Given the description of an element on the screen output the (x, y) to click on. 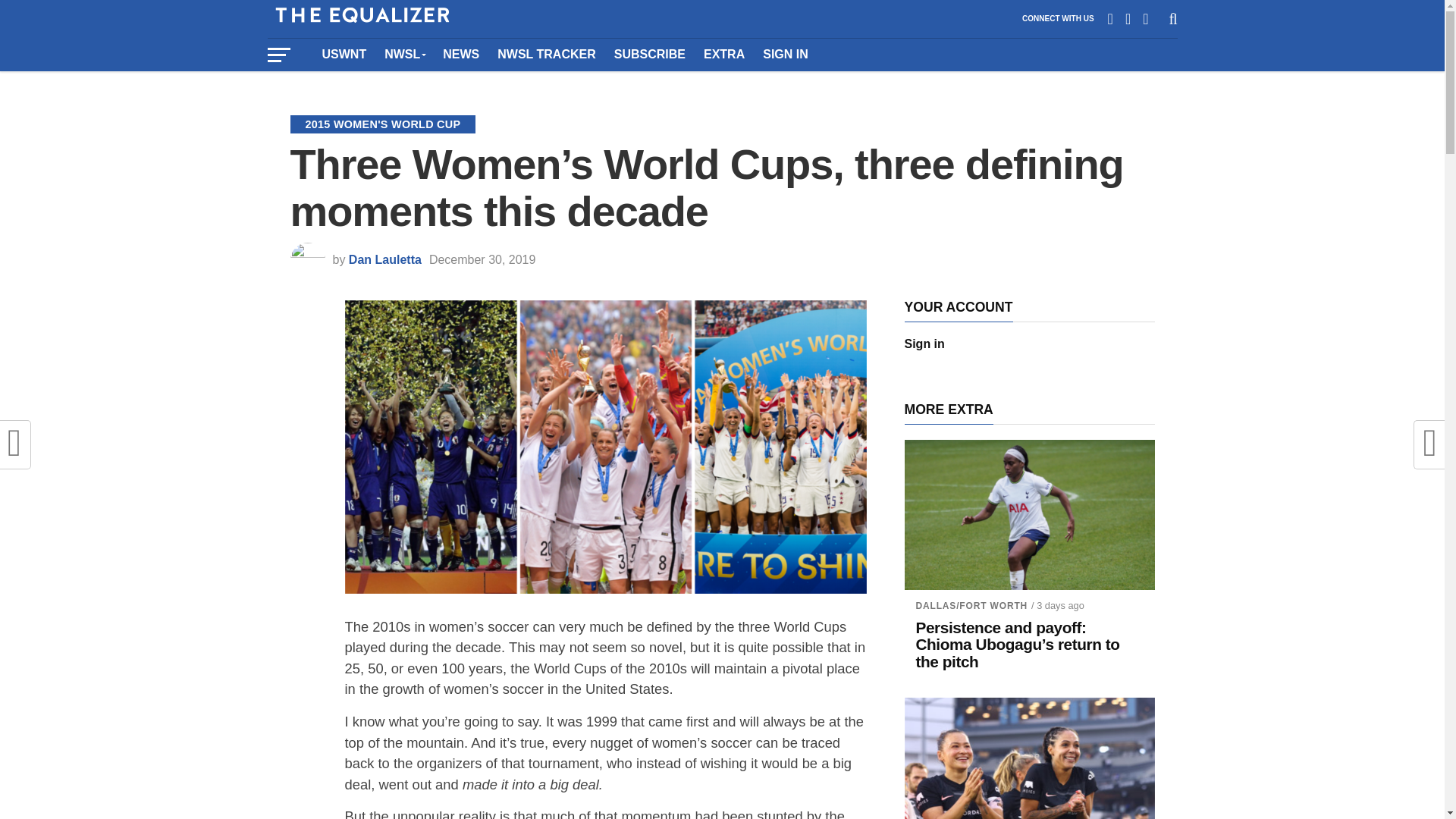
NWSL (404, 54)
USWNT (344, 54)
Posts by Dan Lauletta (385, 259)
